Given the description of an element on the screen output the (x, y) to click on. 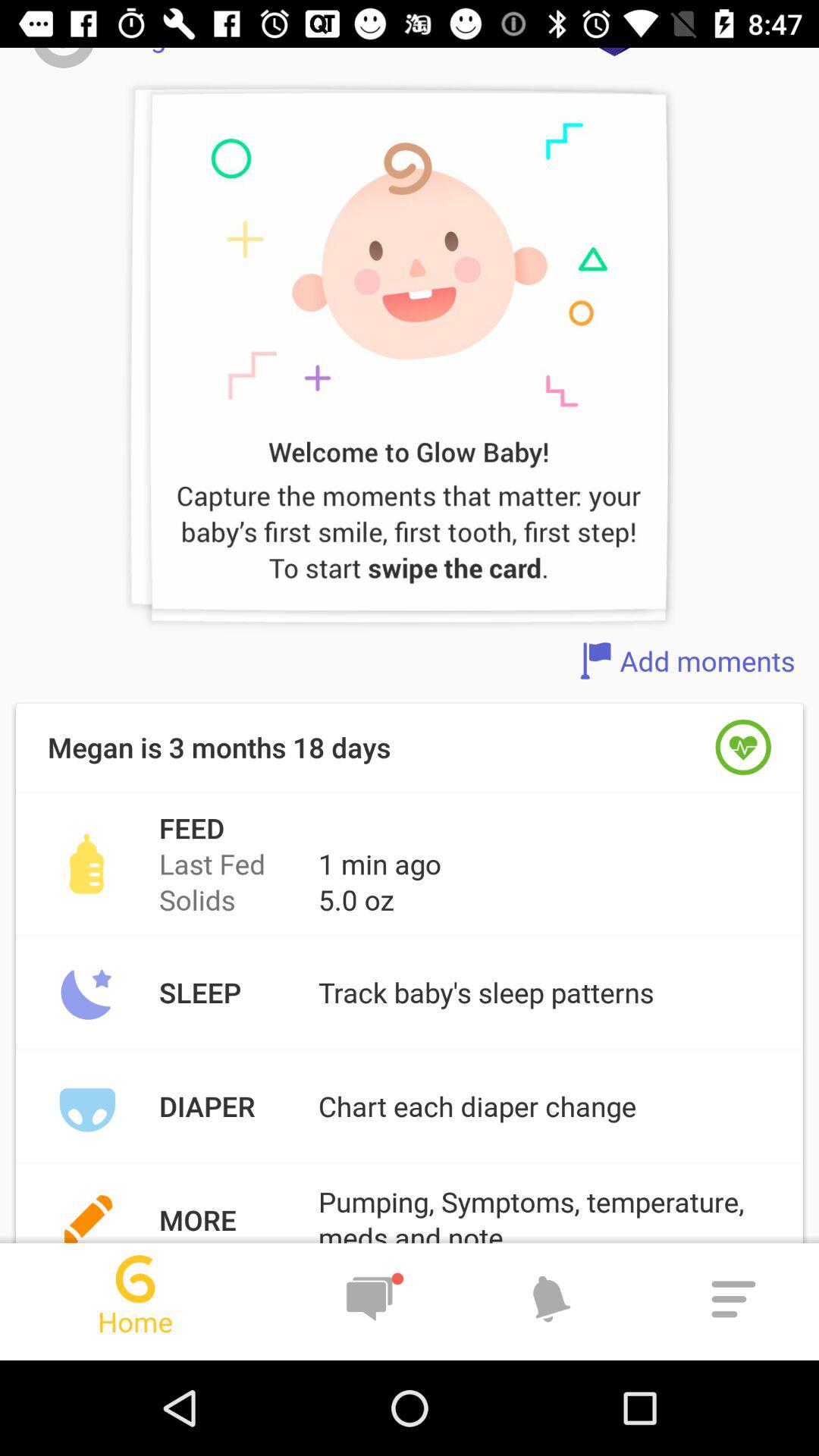
click on the first image card (408, 363)
